Given the description of an element on the screen output the (x, y) to click on. 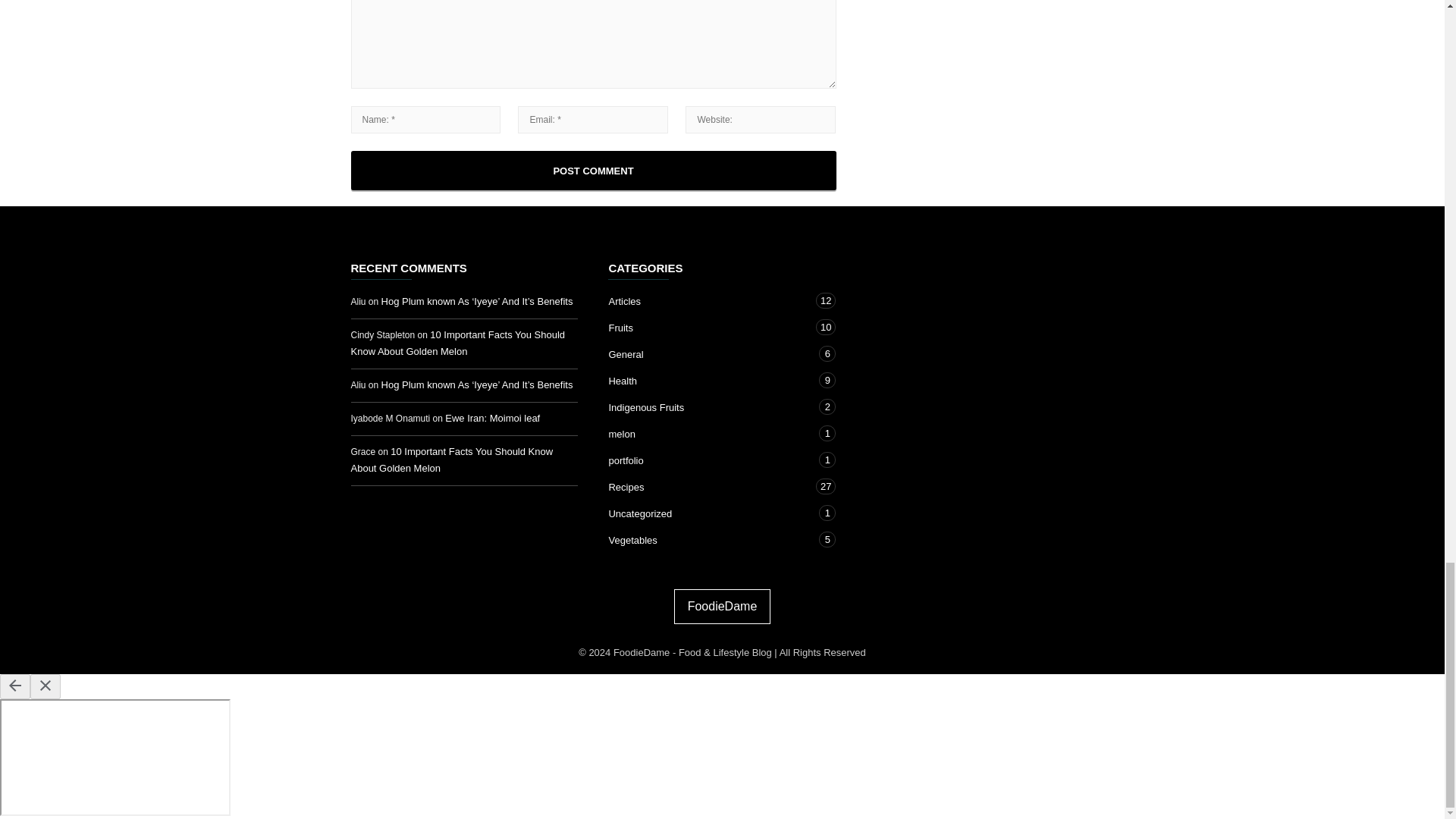
Post Comment (592, 170)
FoodieDame (722, 606)
